Given the description of an element on the screen output the (x, y) to click on. 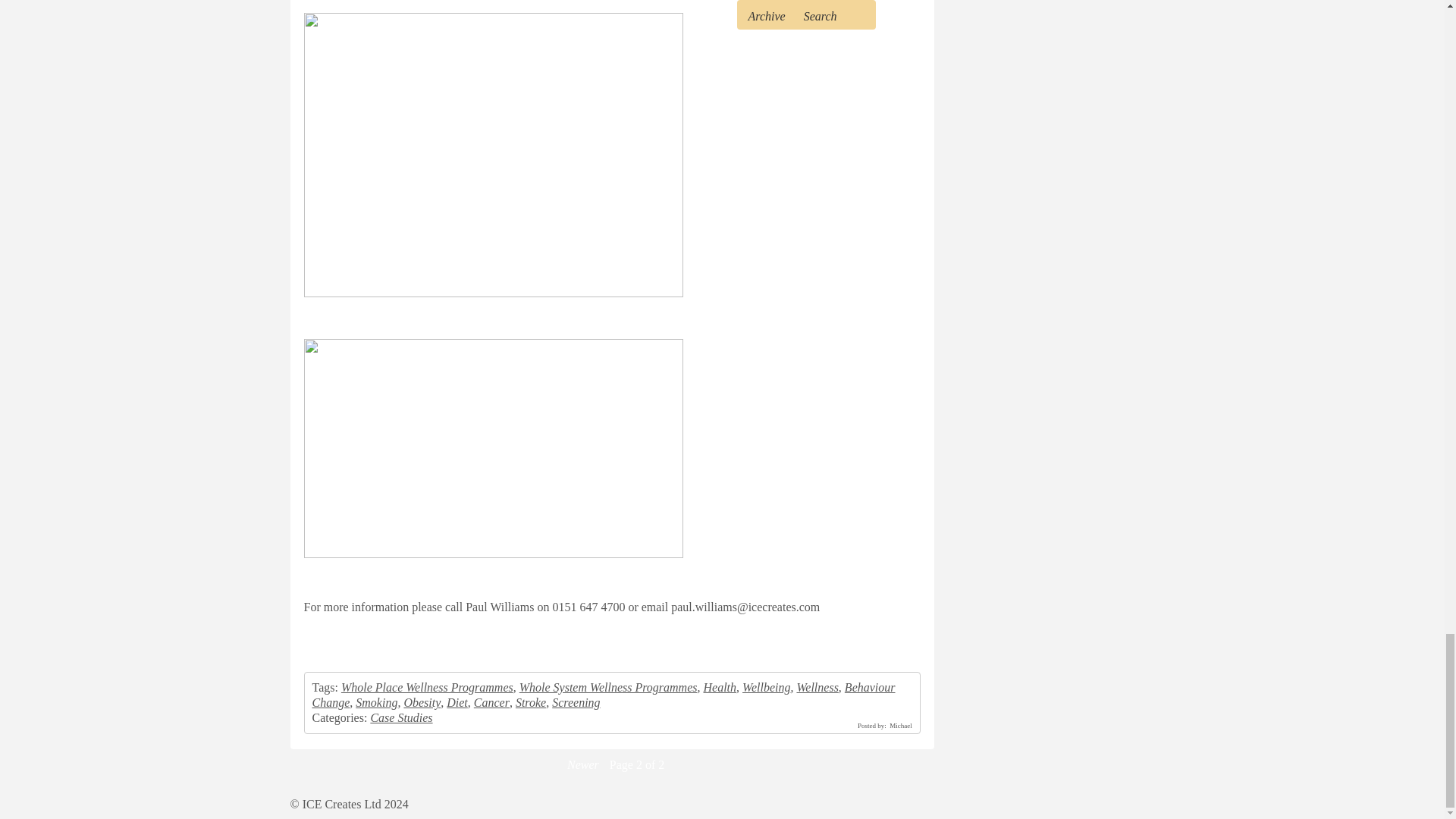
Whole System Wellness Programmes (608, 686)
Cancer (491, 702)
Screening (575, 702)
Smoking (376, 702)
Wellbeing (766, 686)
Whole Place Wellness Programmes (426, 686)
Wellness (817, 686)
Stroke (530, 702)
Obesity (422, 702)
Health (719, 686)
